Given the description of an element on the screen output the (x, y) to click on. 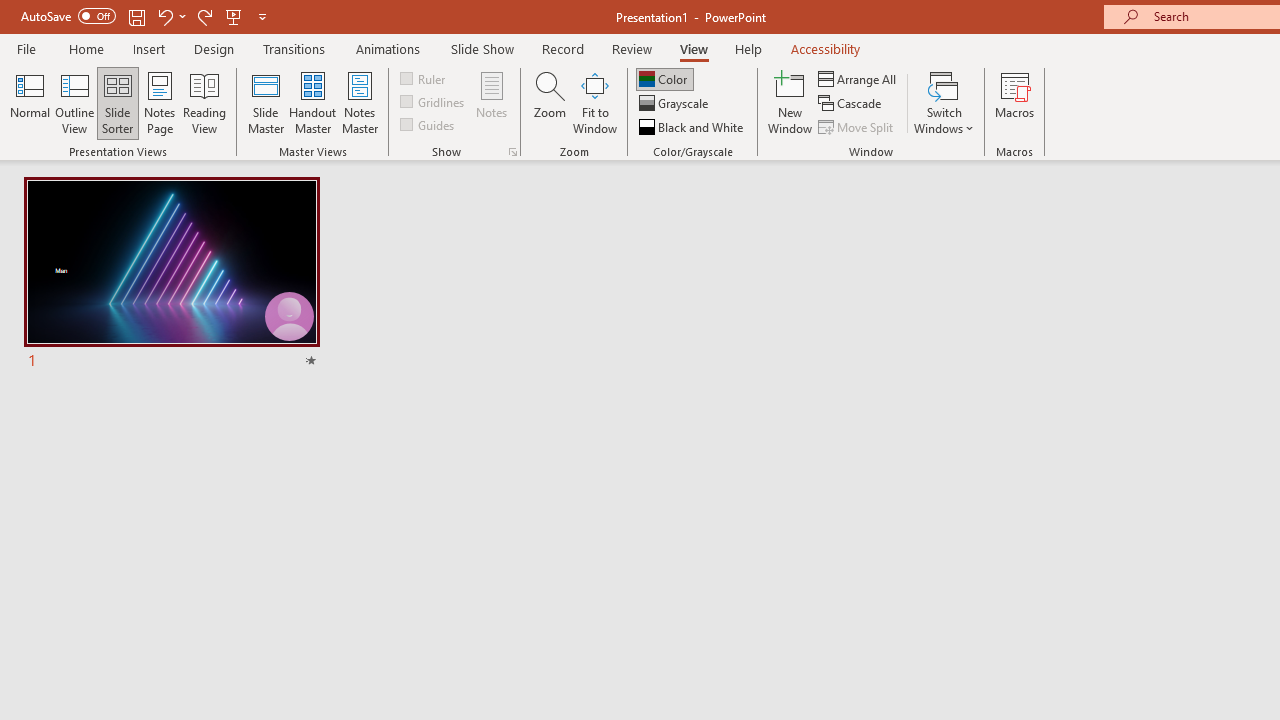
Arrange All (858, 78)
Slide Master (265, 102)
Color (664, 78)
Guides (428, 124)
Zoom... (549, 102)
Handout Master (312, 102)
New Window (790, 102)
Grid Settings... (512, 151)
